Given the description of an element on the screen output the (x, y) to click on. 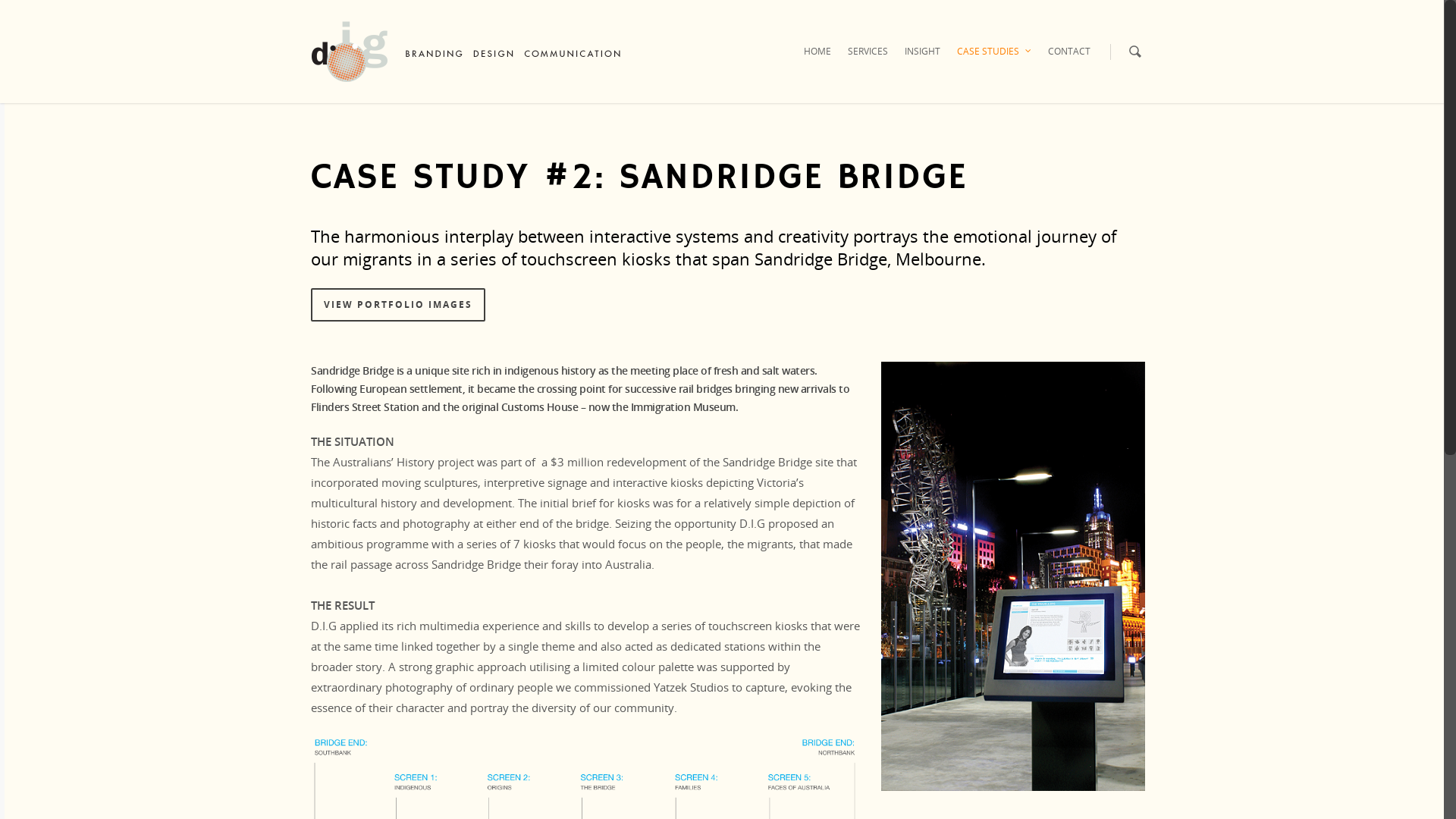
CONTACT Element type: text (1069, 62)
CASE STUDIES Element type: text (993, 62)
INSIGHT Element type: text (922, 62)
SERVICES Element type: text (867, 62)
HOME Element type: text (817, 62)
VIEW PORTFOLIO IMAGES Element type: text (397, 304)
